Given the description of an element on the screen output the (x, y) to click on. 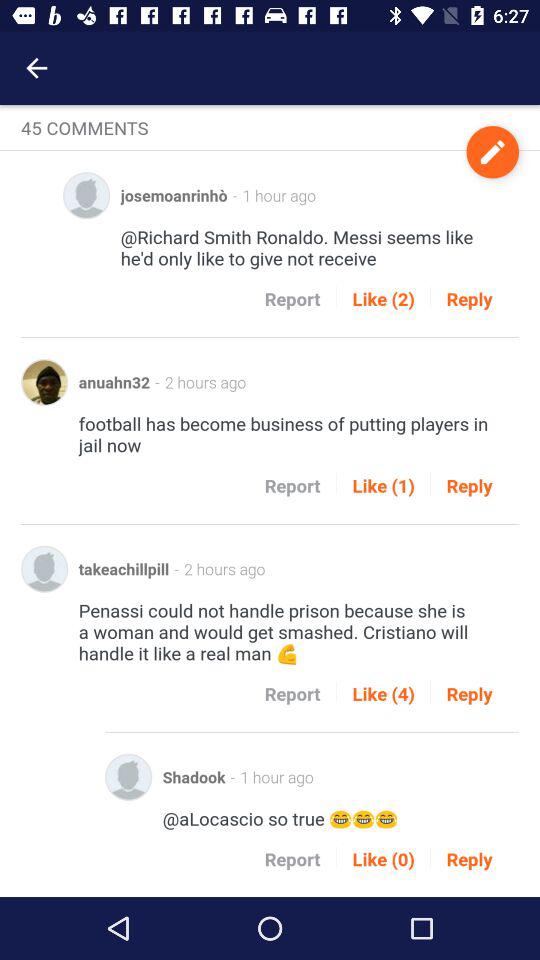
click the icon above 45 comments item (36, 68)
